Given the description of an element on the screen output the (x, y) to click on. 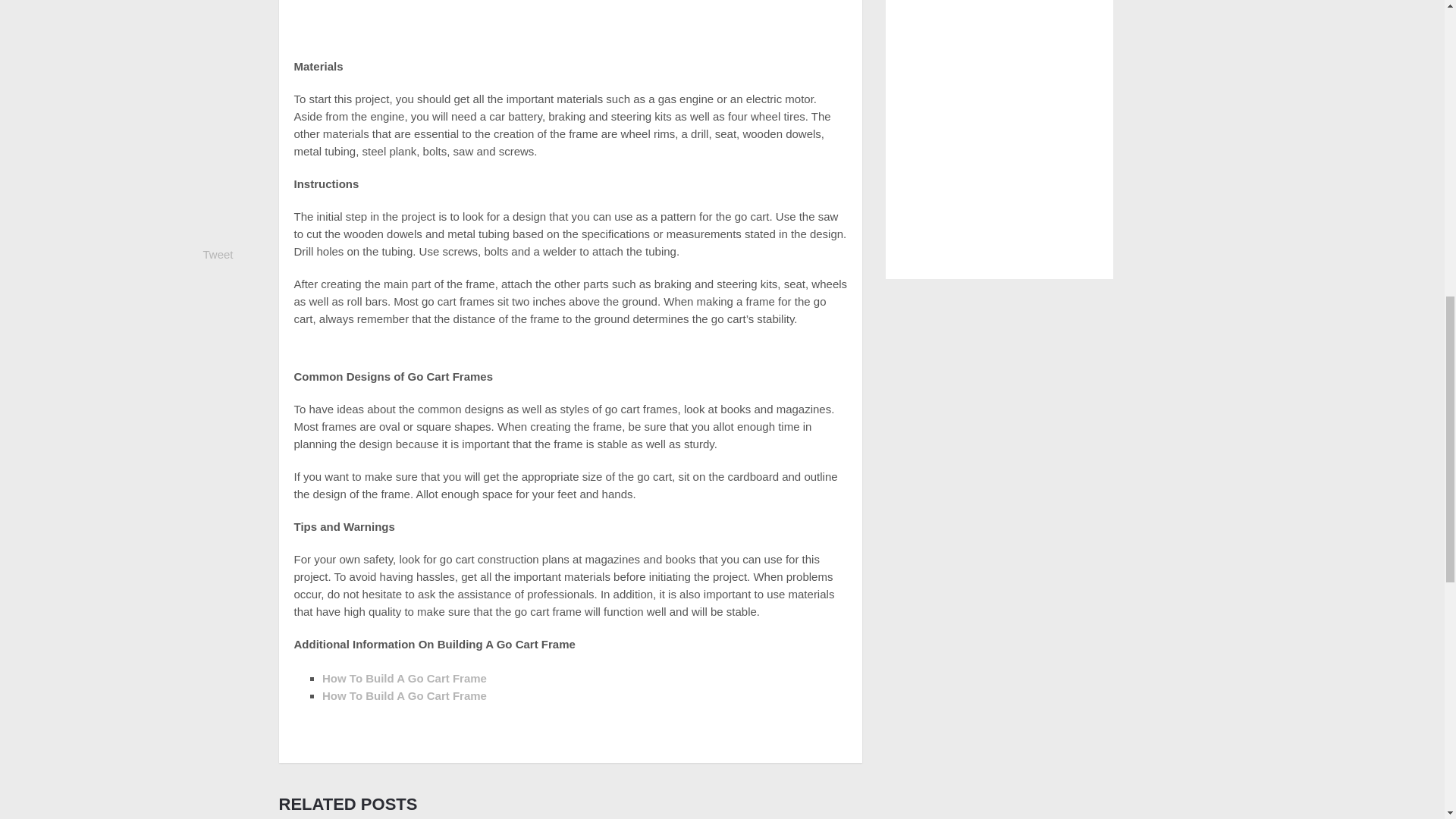
Advertisement (569, 22)
How To Build A Go Cart Frame (403, 695)
How To Build A Go Cart Frame (403, 677)
